Given the description of an element on the screen output the (x, y) to click on. 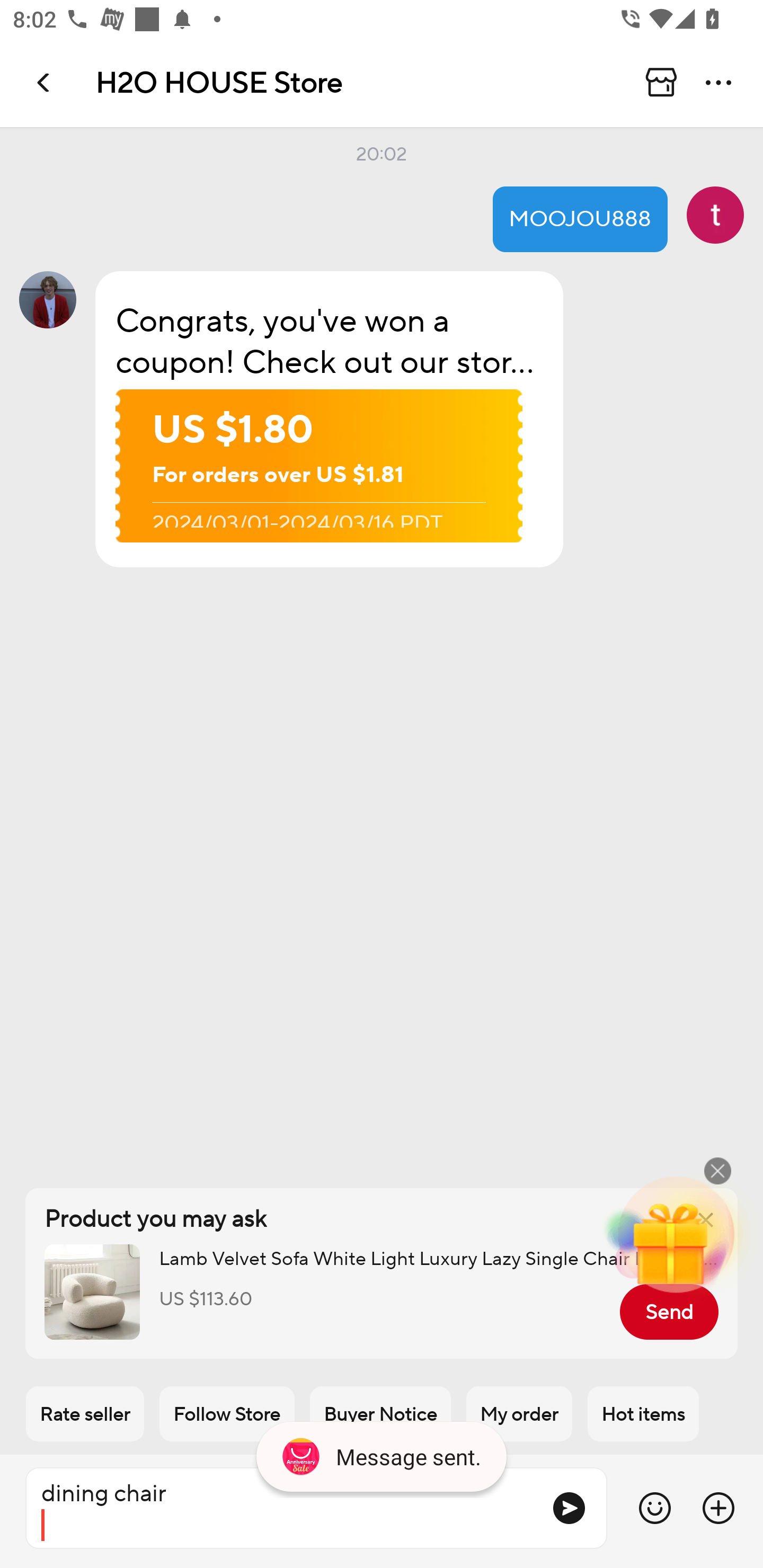
Navigate up (44, 82)
MOOJOU888 (579, 219)
头像 (714, 214)
头像 (47, 299)
Send (668, 1311)
Rate seller (84, 1414)
Follow Store (226, 1414)
Buyer Notice (380, 1414)
My order (519, 1414)
Hot items (642, 1414)
dining chair
 (281, 1508)
